Given the description of an element on the screen output the (x, y) to click on. 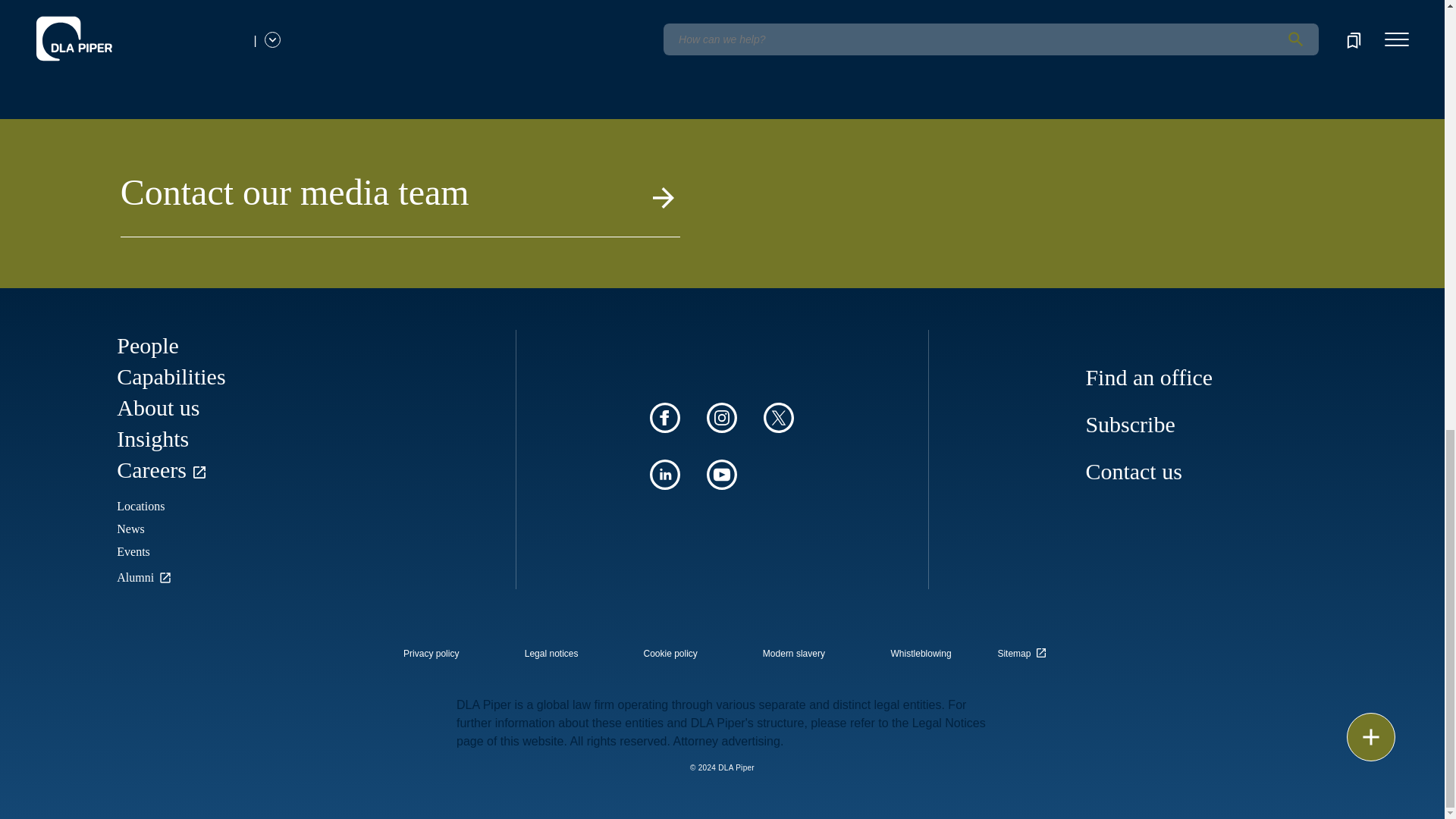
internal (670, 653)
internal (920, 653)
internal (430, 653)
internal (549, 653)
external (1024, 649)
internal (793, 653)
